Given the description of an element on the screen output the (x, y) to click on. 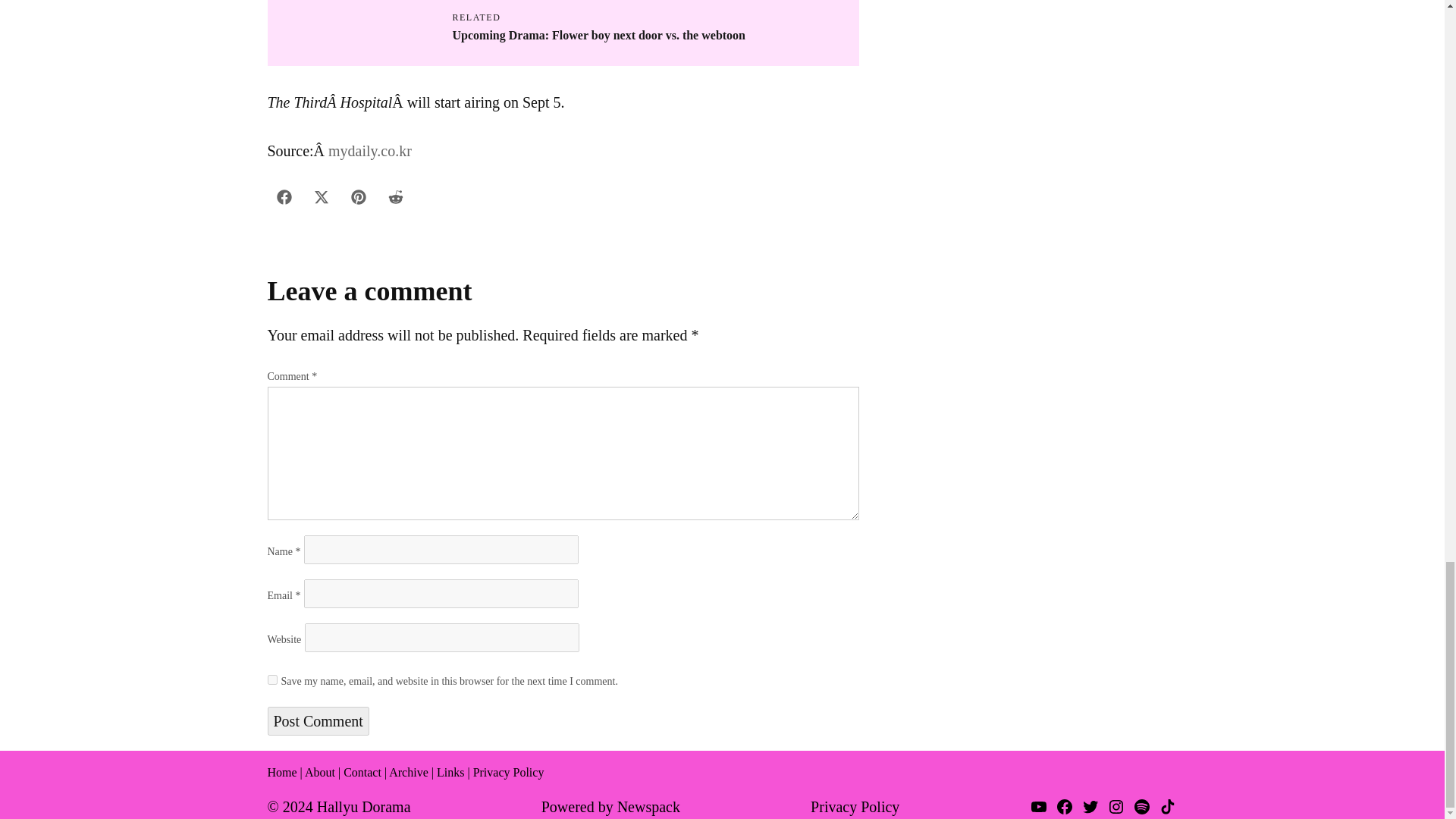
yes (271, 679)
Post Comment (317, 720)
